Given the description of an element on the screen output the (x, y) to click on. 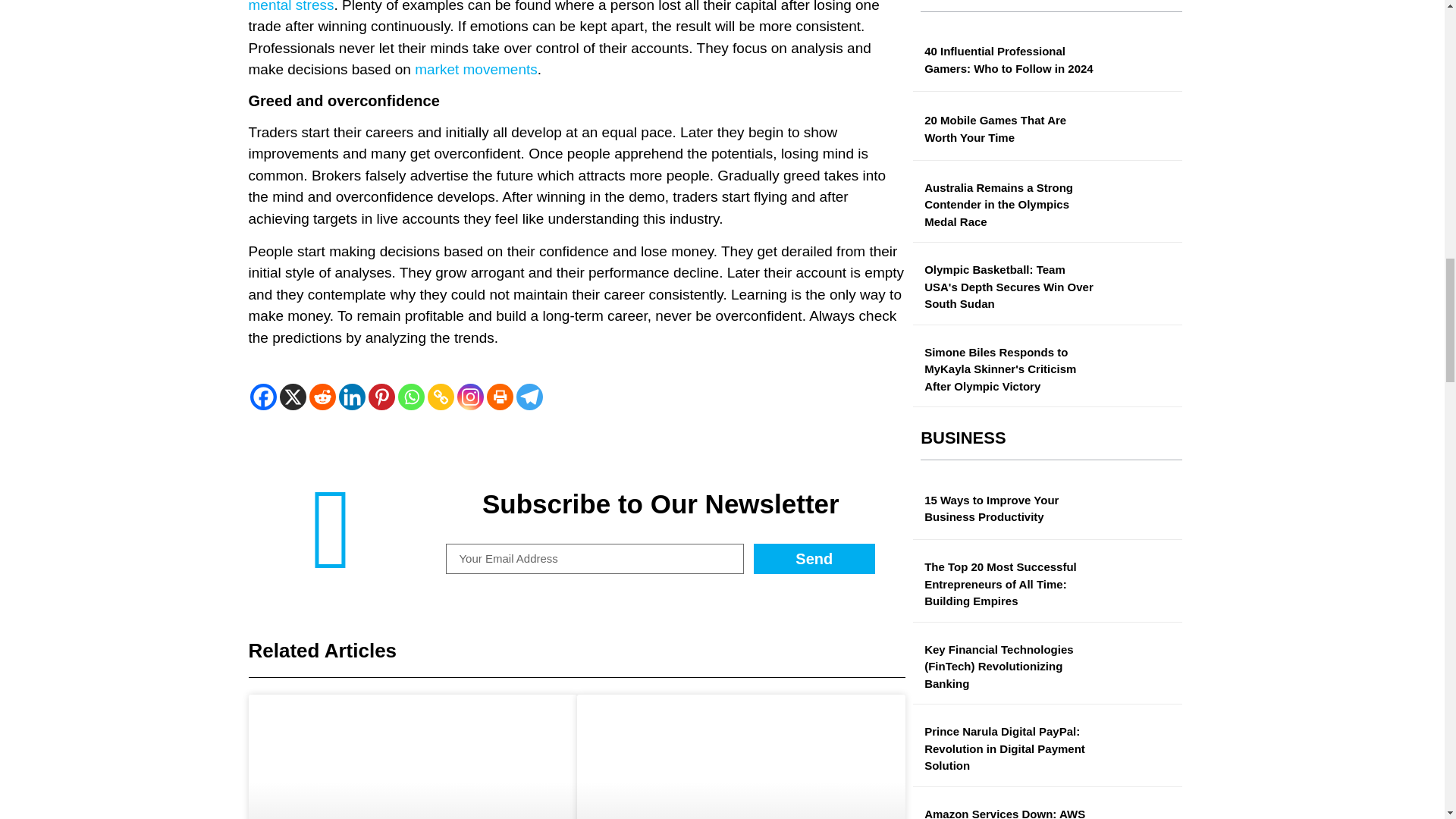
Copy Link (441, 397)
Whatsapp (410, 397)
Instagram (470, 397)
Facebook (263, 397)
X (292, 397)
Linkedin (351, 397)
Pinterest (381, 397)
Reddit (322, 397)
